Given the description of an element on the screen output the (x, y) to click on. 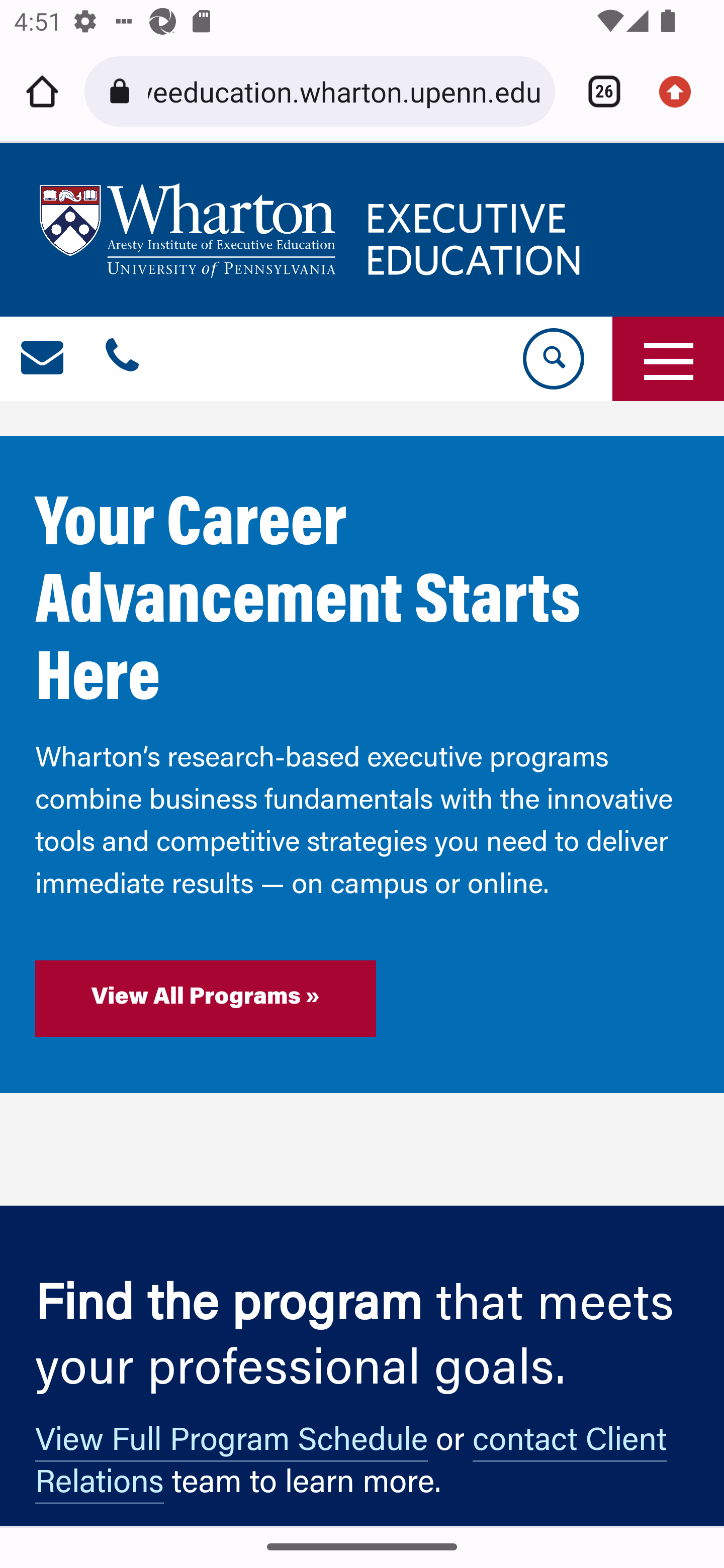
Home (42, 91)
Connection is secure (122, 91)
Switch or close tabs (597, 91)
Update available. More options (681, 91)
Wharton Executive Education (313, 230)
 (43, 358)
 (122, 358)
Mobile menu toggle (668, 358)
 Search Wharton  (552, 358)
View All Programs » (205, 998)
contact Client Relations (350, 1465)
